Given the description of an element on the screen output the (x, y) to click on. 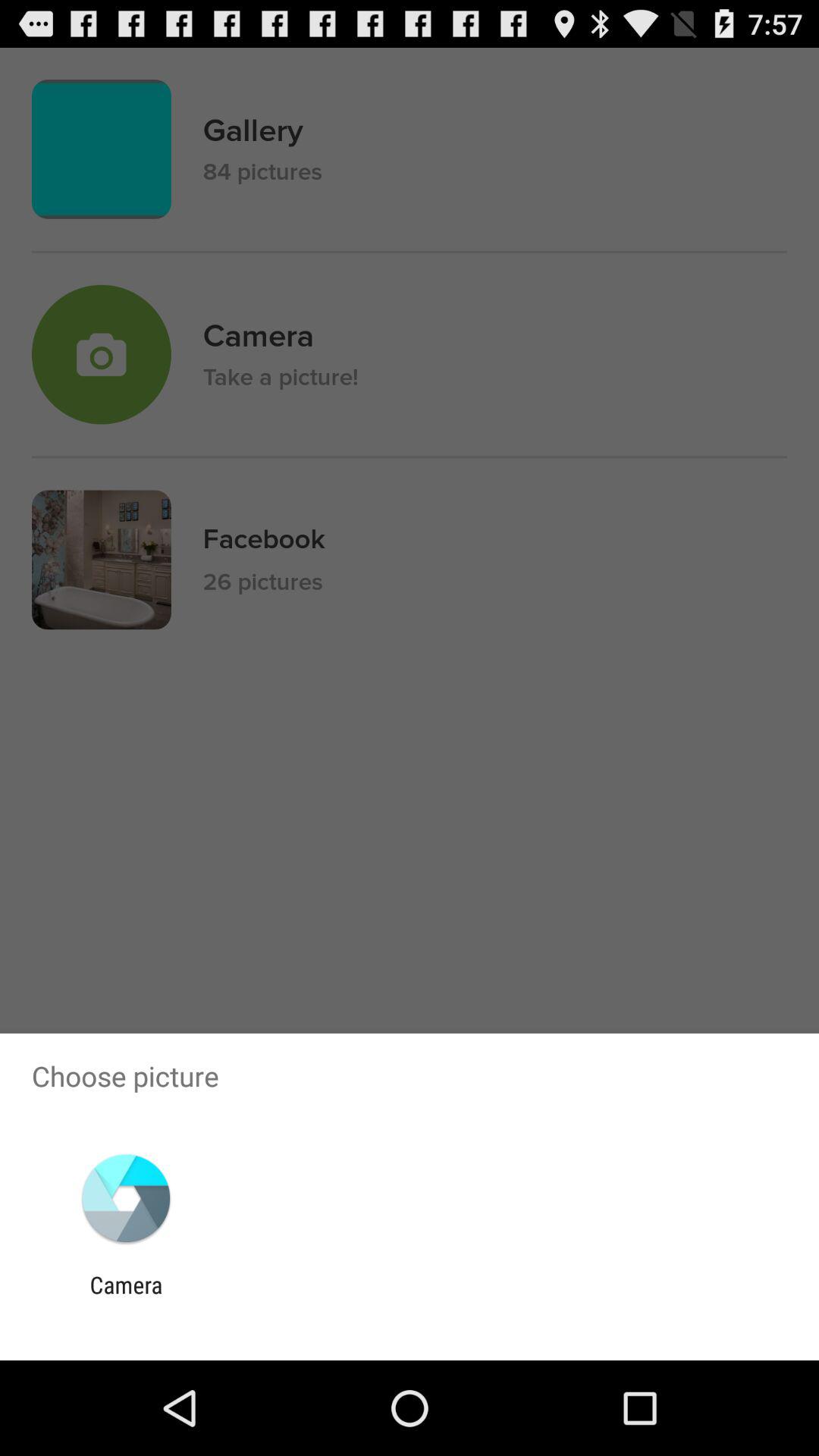
press the app below choose picture (126, 1198)
